Given the description of an element on the screen output the (x, y) to click on. 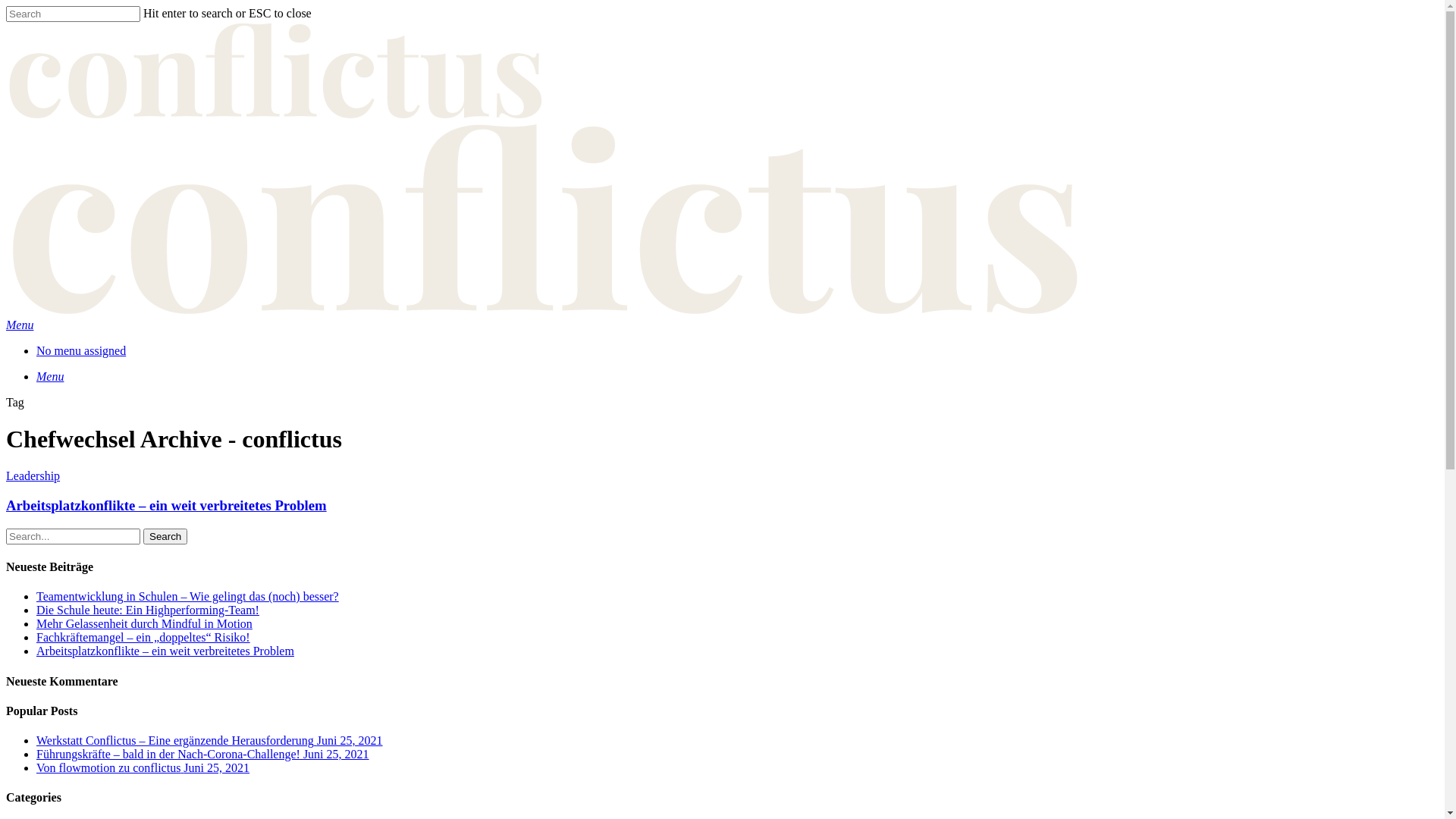
No menu assigned Element type: text (80, 350)
Search for: Element type: hover (73, 536)
Mehr Gelassenheit durch Mindful in Motion Element type: text (144, 623)
Von flowmotion zu conflictus Juni 25, 2021 Element type: text (737, 767)
Menu Element type: text (19, 324)
Die Schule heute: Ein Highperforming-Team! Element type: text (147, 609)
Menu Element type: text (49, 376)
Leadership Element type: text (32, 475)
Search Element type: text (165, 536)
